Given the description of an element on the screen output the (x, y) to click on. 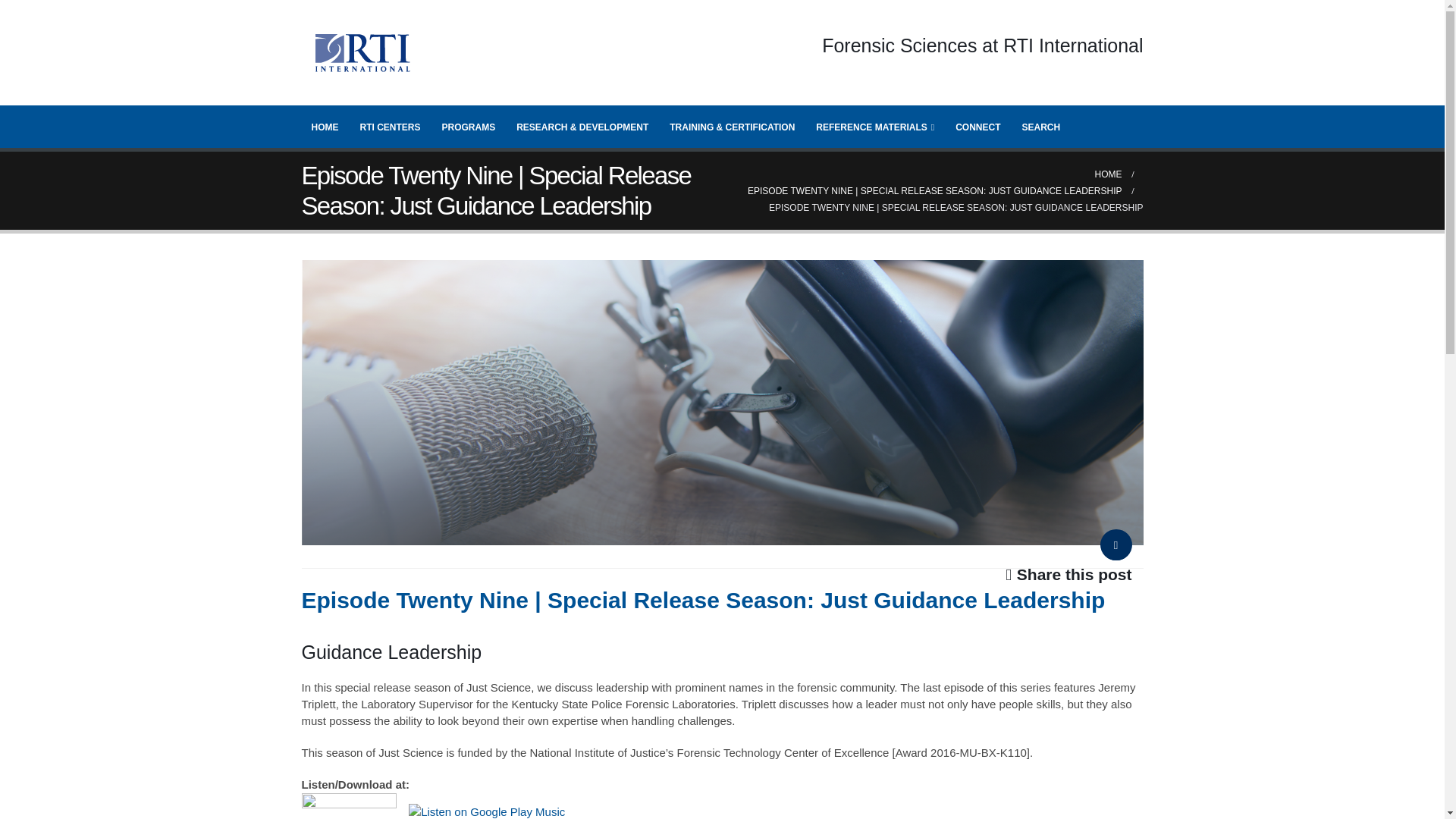
HOME (325, 126)
Go to Home Page (1108, 174)
CONNECT (977, 126)
HOME (1108, 174)
Facebook (1114, 549)
ForensicRTI -  (362, 52)
SEARCH (1040, 126)
RTI CENTERS (390, 126)
REFERENCE MATERIALS (874, 126)
PROGRAMS (468, 126)
